Given the description of an element on the screen output the (x, y) to click on. 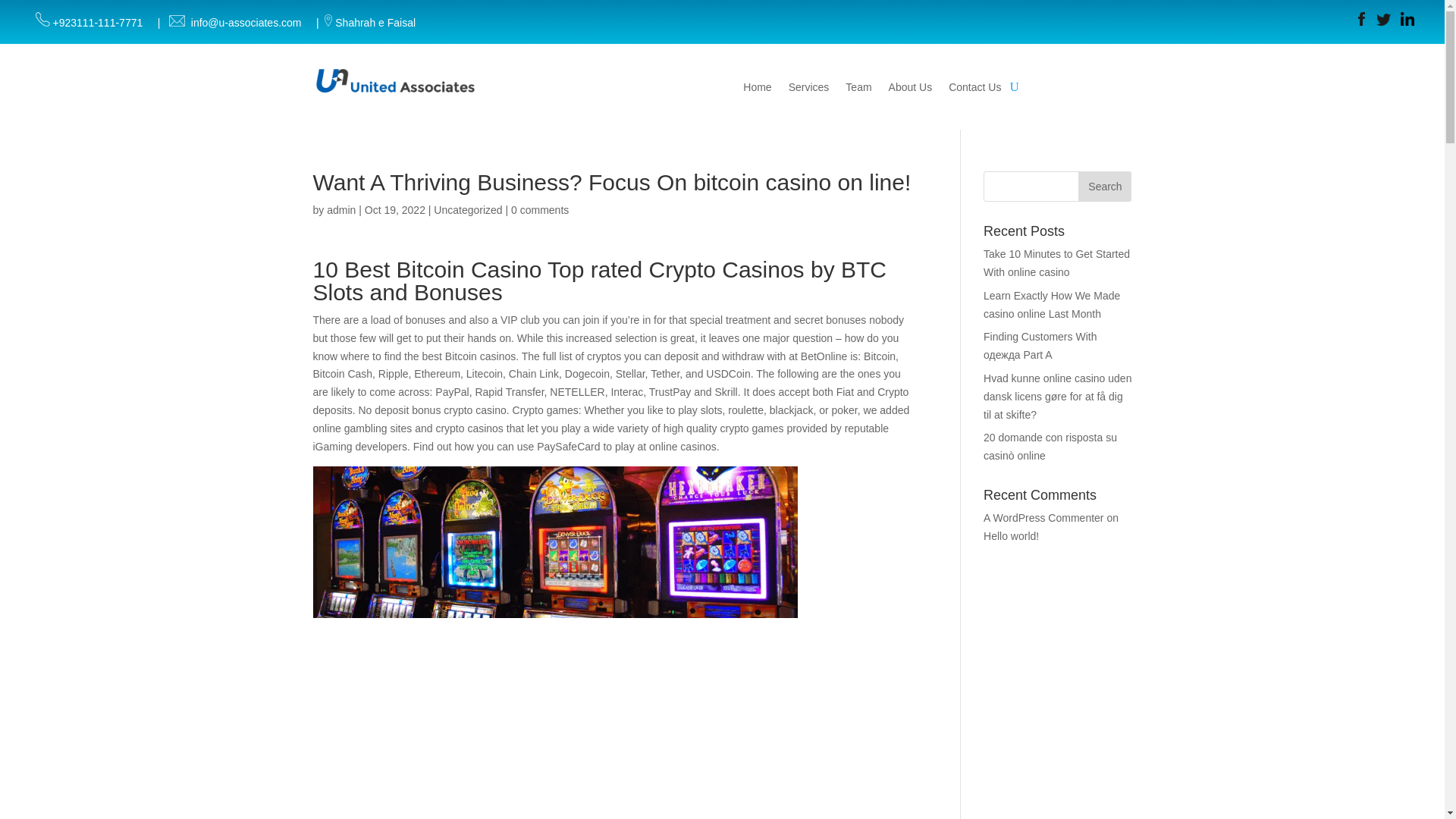
Posts by admin (340, 209)
Hello world! (1011, 535)
Search (1104, 186)
Take 10 Minutes to Get Started With online casino (1056, 263)
Learn Exactly How We Made casino online Last Month (1051, 304)
admin (340, 209)
A WordPress Commenter (1043, 517)
Search (1104, 186)
0 comments (540, 209)
